Given the description of an element on the screen output the (x, y) to click on. 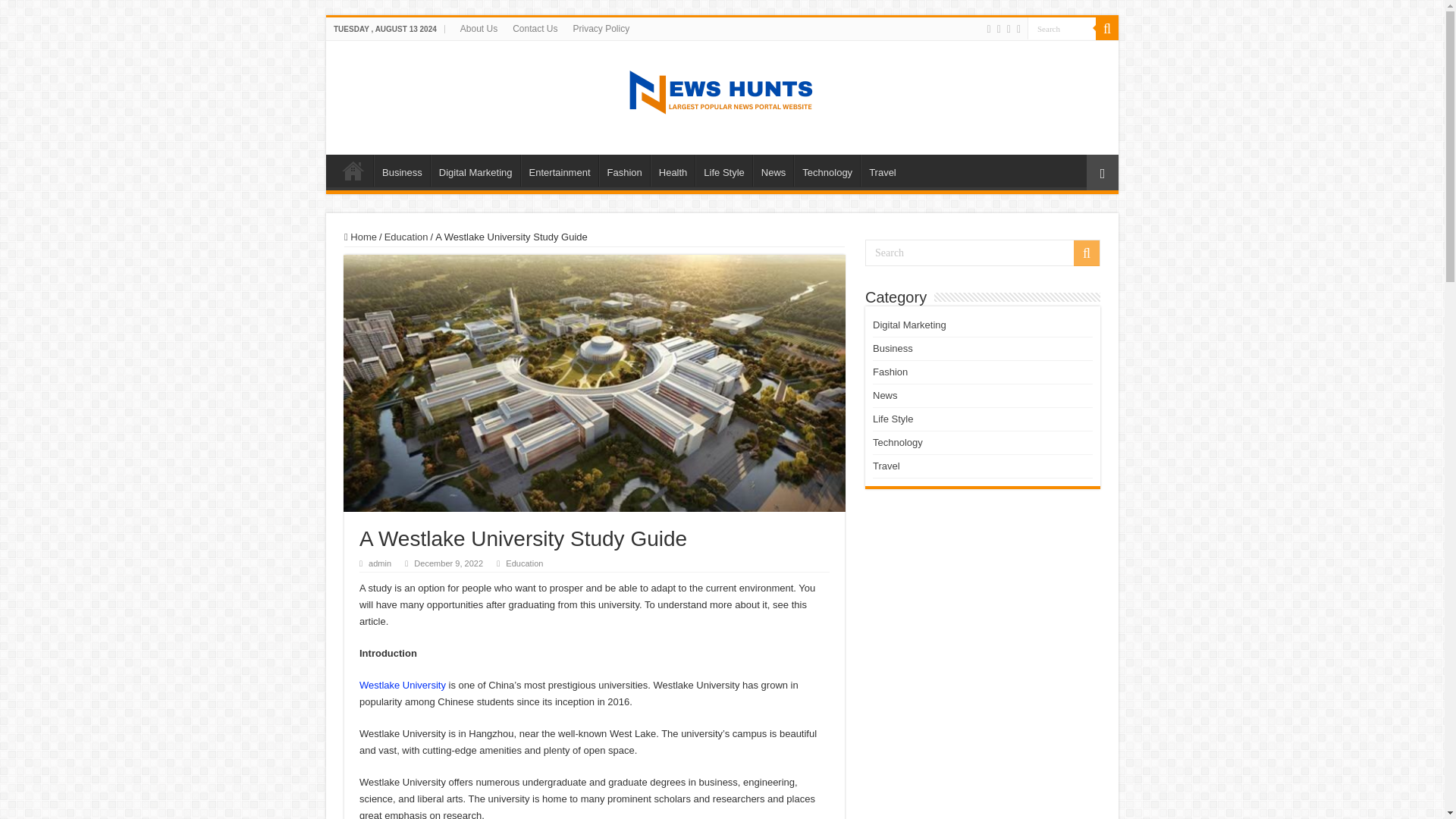
Travel (882, 170)
Search (1107, 28)
News (772, 170)
Health (672, 170)
Search (1061, 28)
Digital Marketing (474, 170)
Entertainment (559, 170)
Contact Us (534, 28)
NEWSHUNTS (721, 94)
Technology (826, 170)
